Given the description of an element on the screen output the (x, y) to click on. 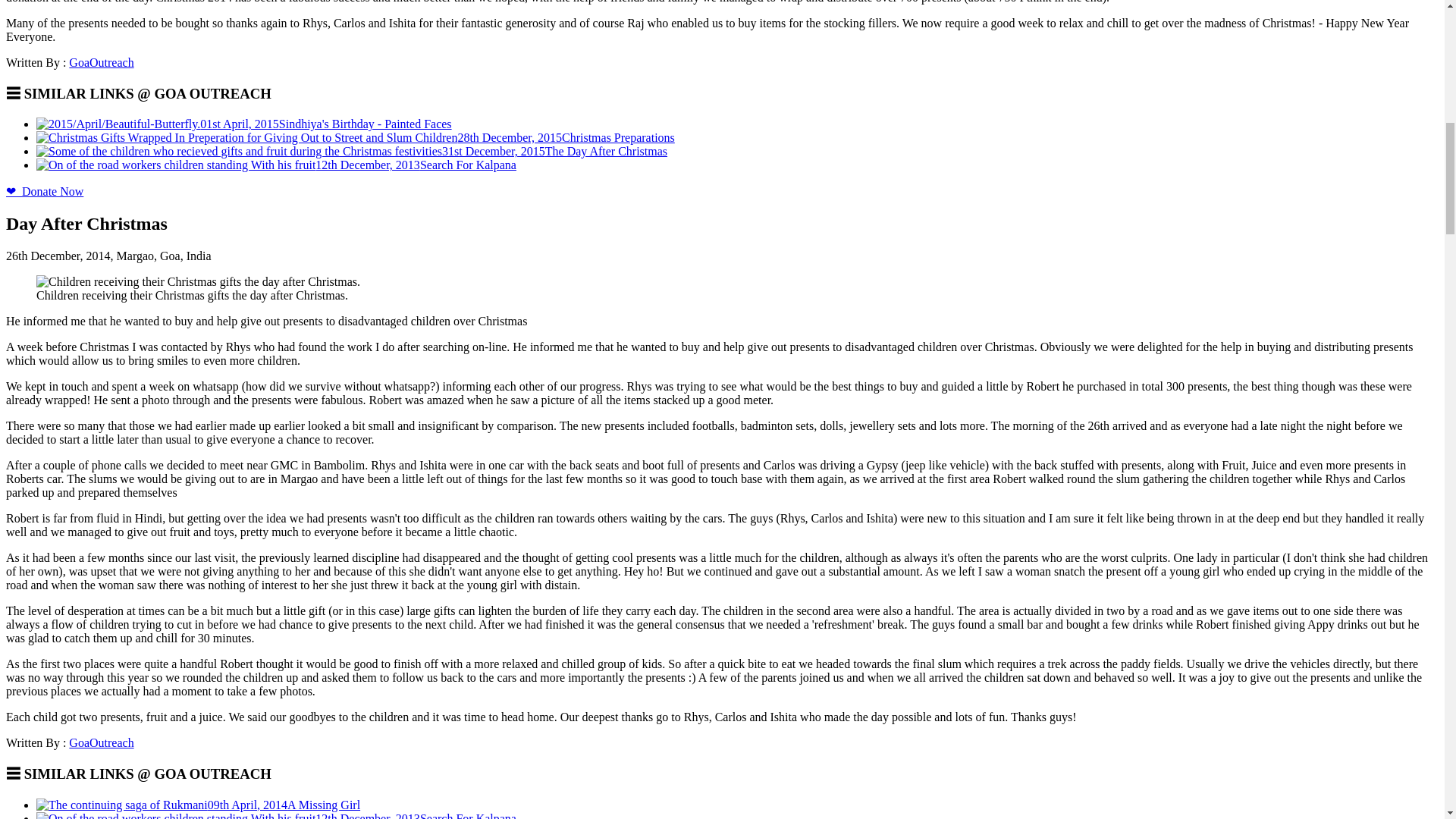
01st April, 2015Sindhiya's Birthday - Painted Faces (243, 123)
GoaOutreach (100, 62)
28th December, 2015Christmas Preparations (355, 137)
12th December, 2013Search For Kalpana (276, 164)
31st December, 2015The Day After Christmas (351, 151)
